Given the description of an element on the screen output the (x, y) to click on. 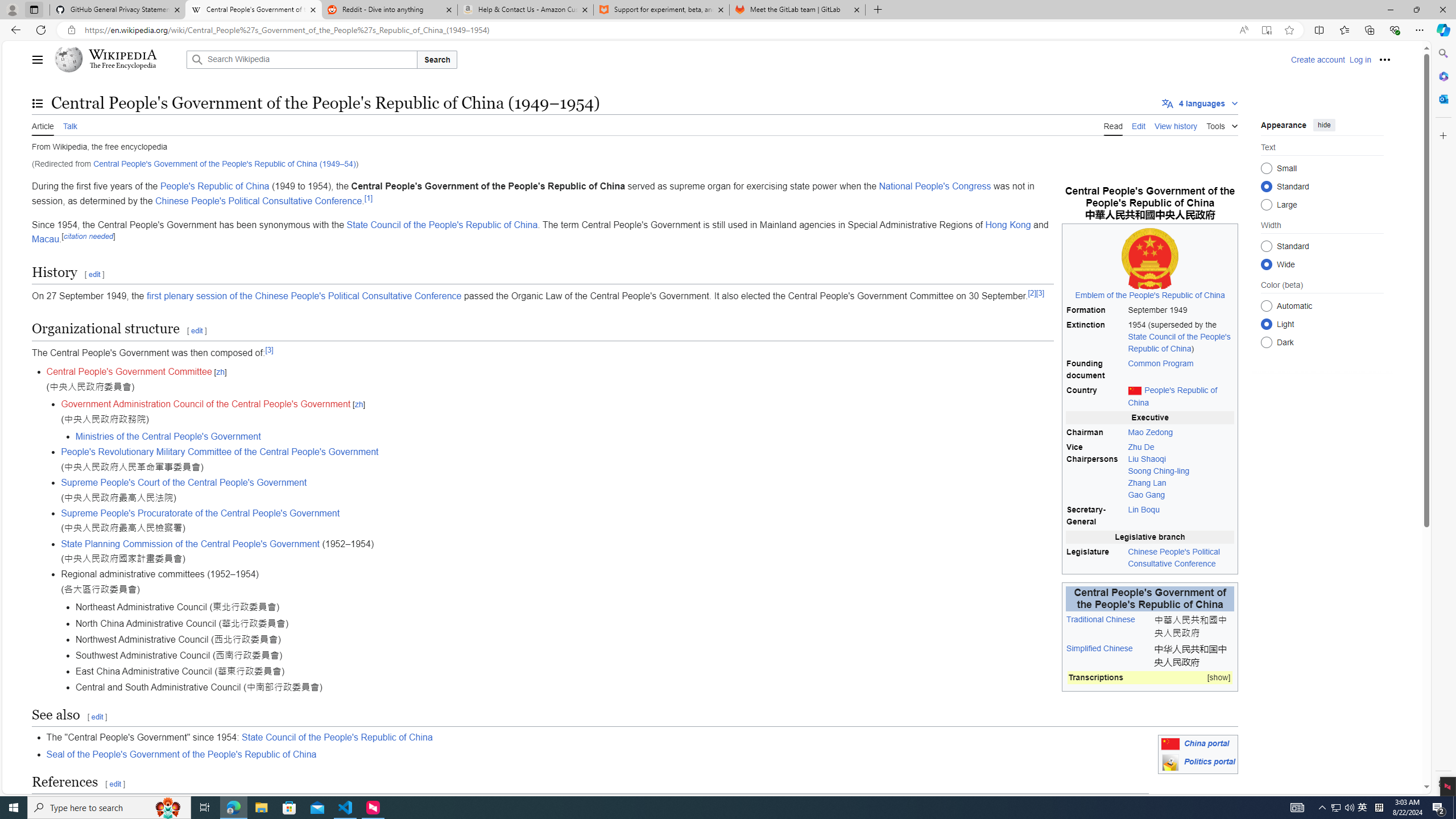
icon (1170, 762)
View history (1176, 124)
Common Program (1180, 369)
Soong Ching-ling (1158, 470)
Class: mw-list-item mw-list-item-js (1321, 323)
The Free Encyclopedia (121, 65)
Executive (1149, 417)
hide (1324, 124)
Wide (1266, 263)
